Given the description of an element on the screen output the (x, y) to click on. 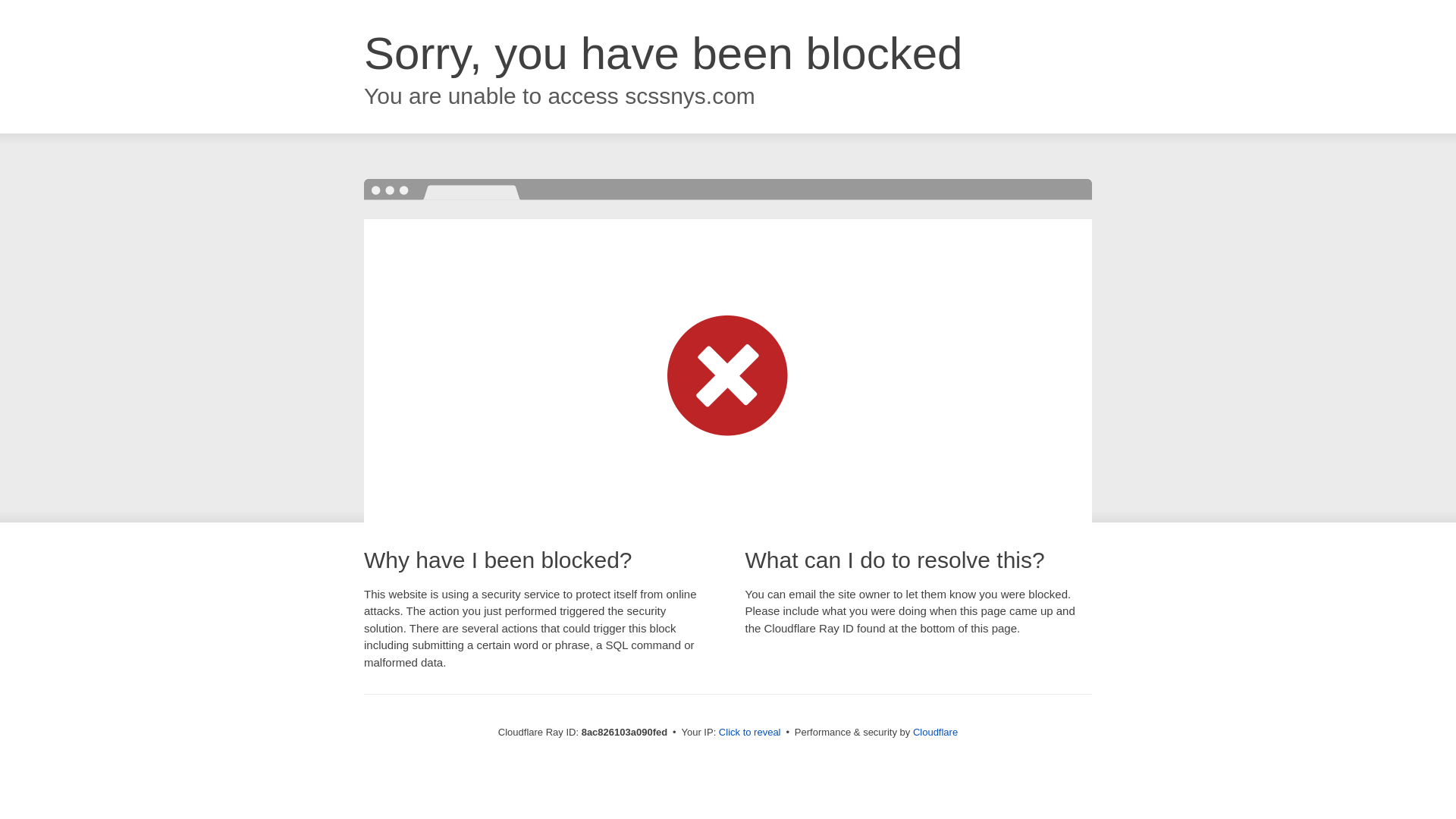
Click to reveal (749, 732)
Cloudflare (935, 731)
